Given the description of an element on the screen output the (x, y) to click on. 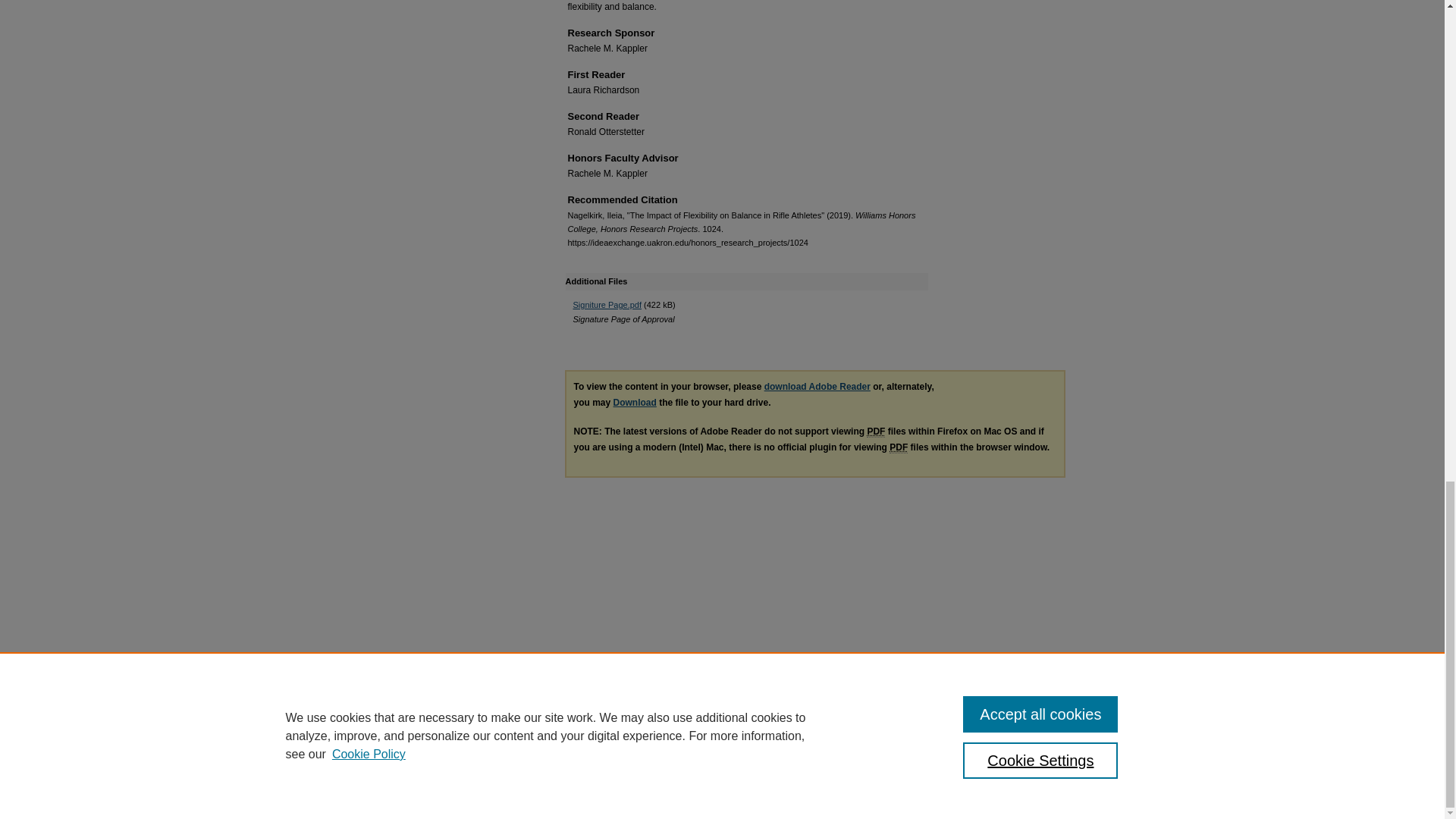
Signiture Page.pdf (607, 304)
download Adobe Reader (817, 386)
Download (634, 402)
